Given the description of an element on the screen output the (x, y) to click on. 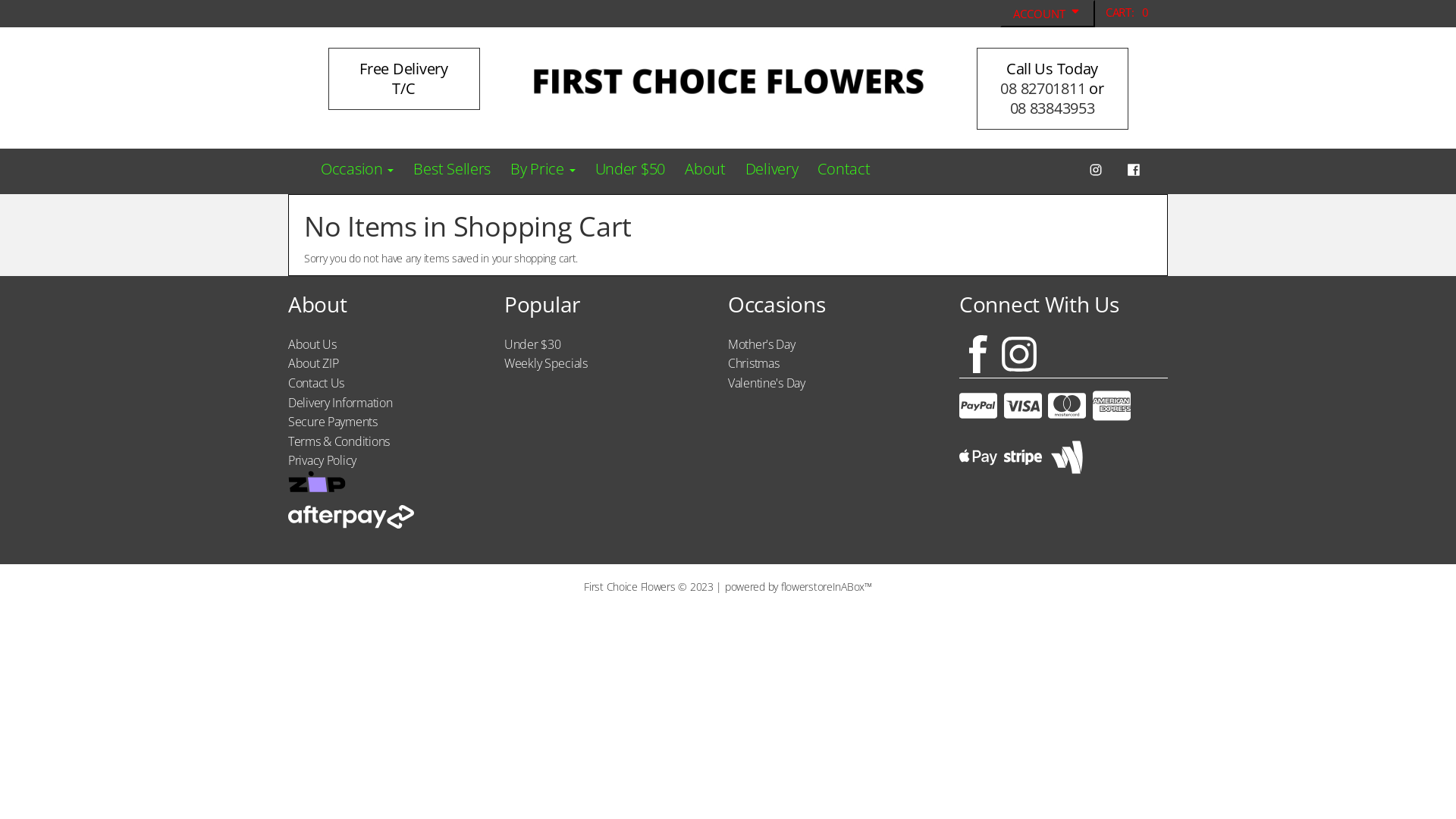
Best Sellers Element type: text (451, 168)
Weekly Specials Element type: text (545, 362)
08 83843953 Element type: text (1052, 107)
About Us Element type: text (312, 343)
By Price Element type: text (542, 168)
Delivery Element type: text (771, 168)
Terms & Conditions Element type: text (338, 441)
About Element type: text (704, 168)
Mother's Day Element type: text (761, 343)
Valentine's Day Element type: text (766, 382)
Delivery Information Element type: text (340, 402)
Christmas Element type: text (753, 362)
ACCOUNT Element type: text (1047, 13)
Privacy Policy Element type: text (322, 459)
Under $50 Element type: text (629, 168)
Contact Us Element type: text (316, 382)
CART: 0 Element type: text (1126, 11)
08 82701811 Element type: text (1042, 88)
Occasion Element type: text (356, 168)
Under $30 Element type: text (532, 343)
About ZIP Element type: text (313, 362)
Secure Payments Element type: text (332, 421)
Contact Element type: text (843, 168)
facebook Element type: text (1133, 171)
